Given the description of an element on the screen output the (x, y) to click on. 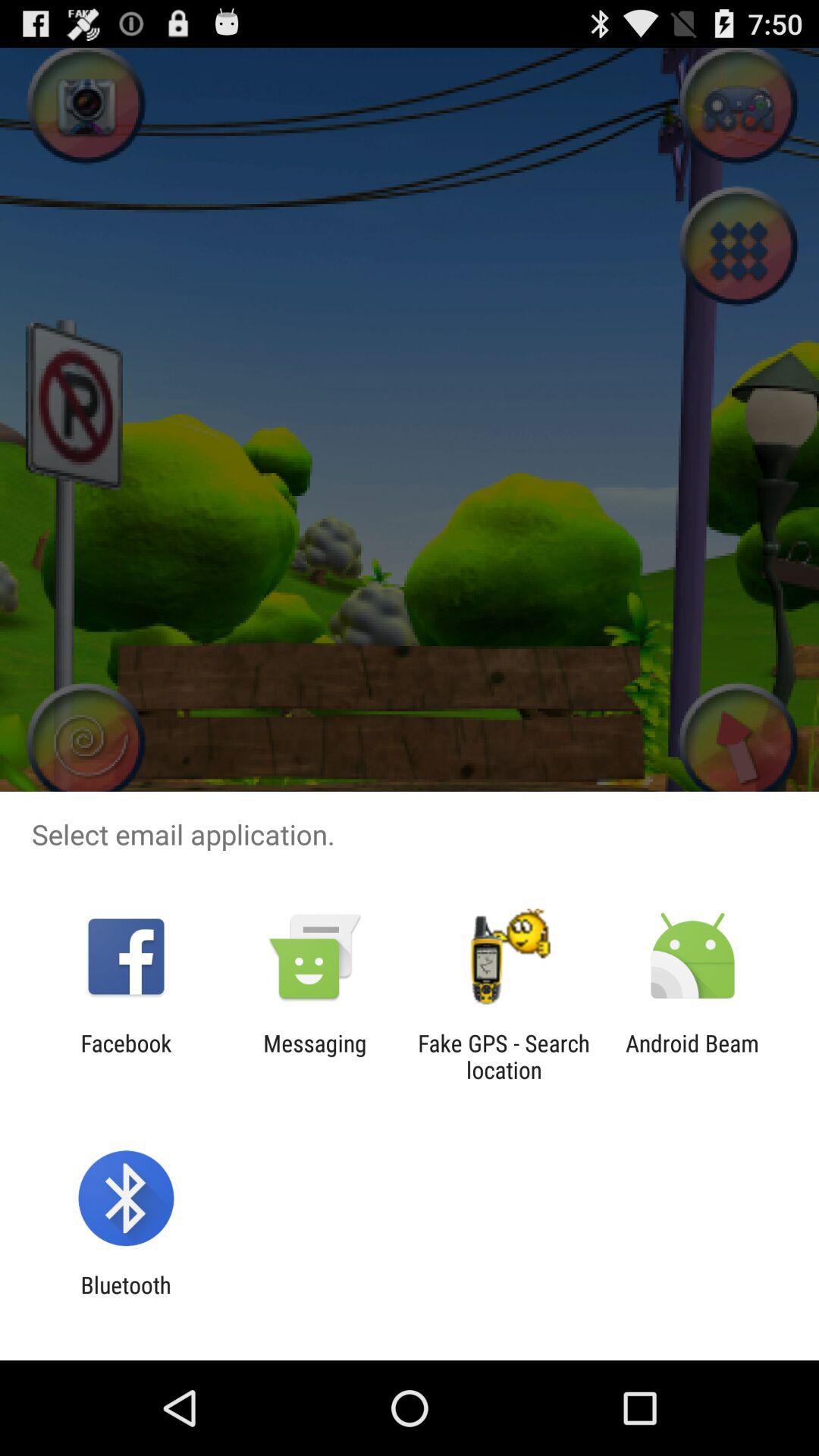
swipe until android beam icon (692, 1056)
